Given the description of an element on the screen output the (x, y) to click on. 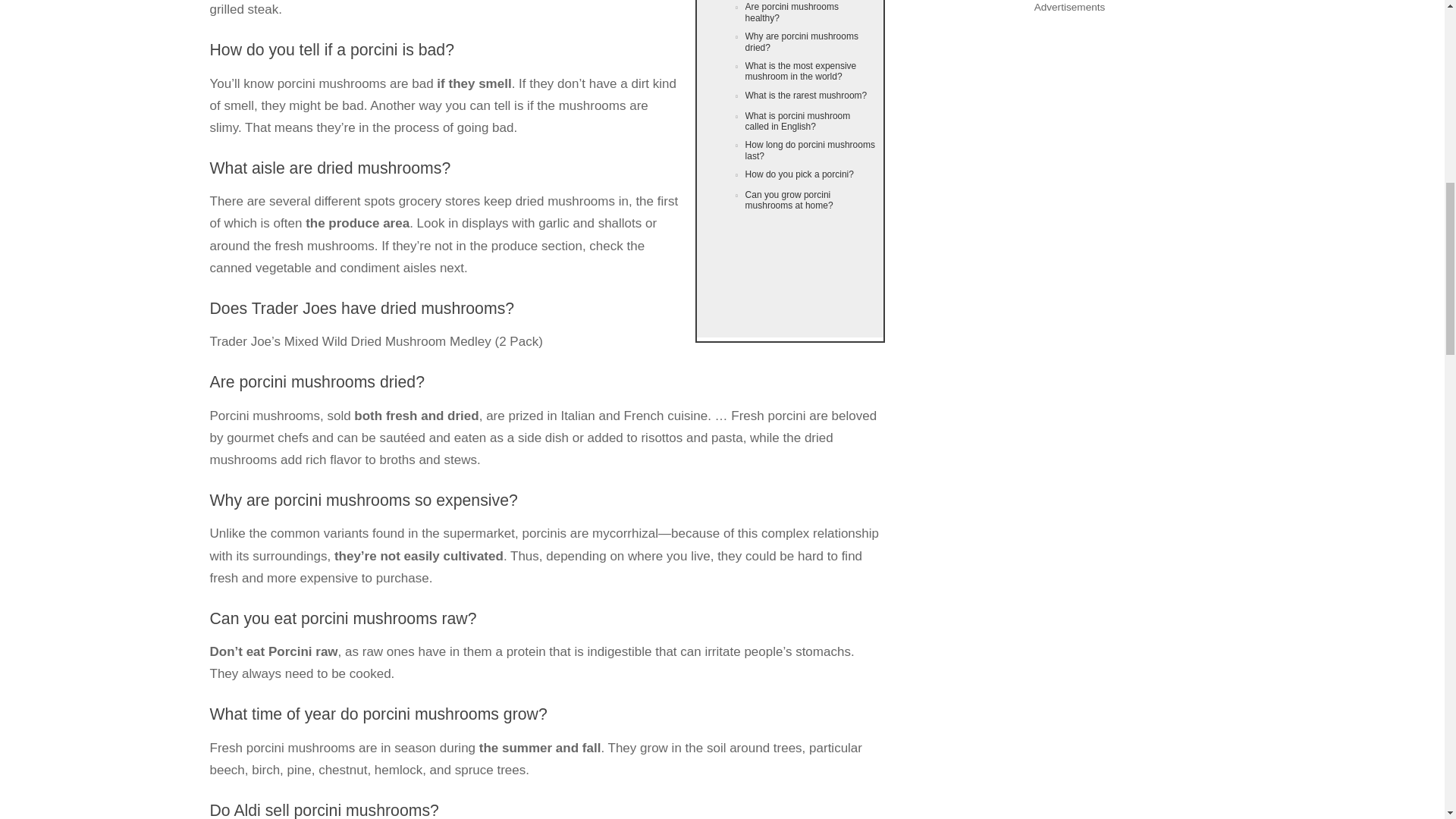
Are porcini mushrooms healthy? (788, 13)
What is porcini mushroom called in English? (788, 121)
What is the most expensive mushroom in the world? (788, 71)
Why are porcini mushrooms dried? (788, 41)
How long do porcini mushrooms last? (788, 150)
Can you grow porcini mushrooms at home? (788, 200)
How do you pick a porcini? (788, 175)
What is the rarest mushroom? (788, 96)
